Given the description of an element on the screen output the (x, y) to click on. 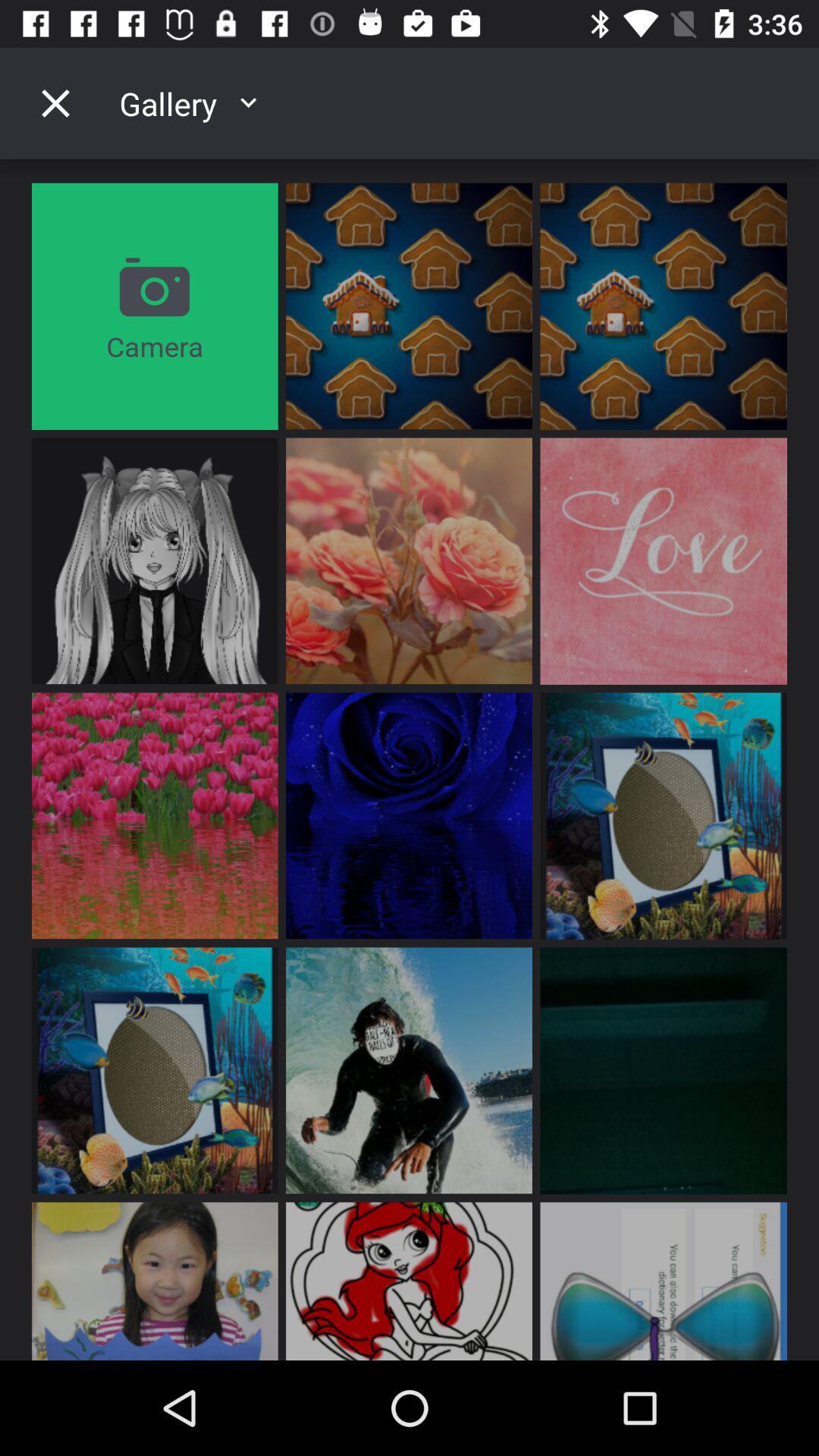
close gallery (55, 103)
